Given the description of an element on the screen output the (x, y) to click on. 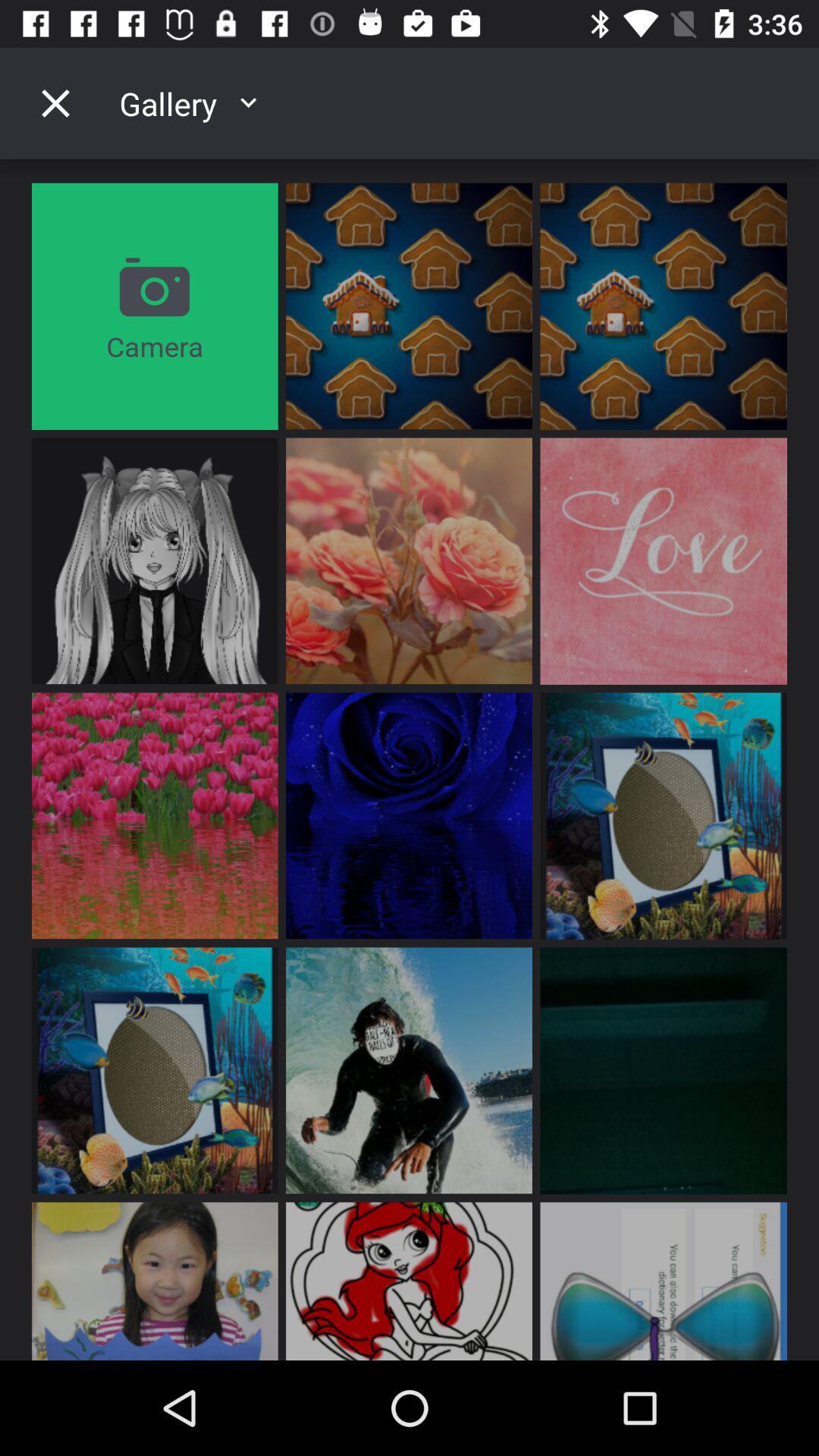
close gallery (55, 103)
